Given the description of an element on the screen output the (x, y) to click on. 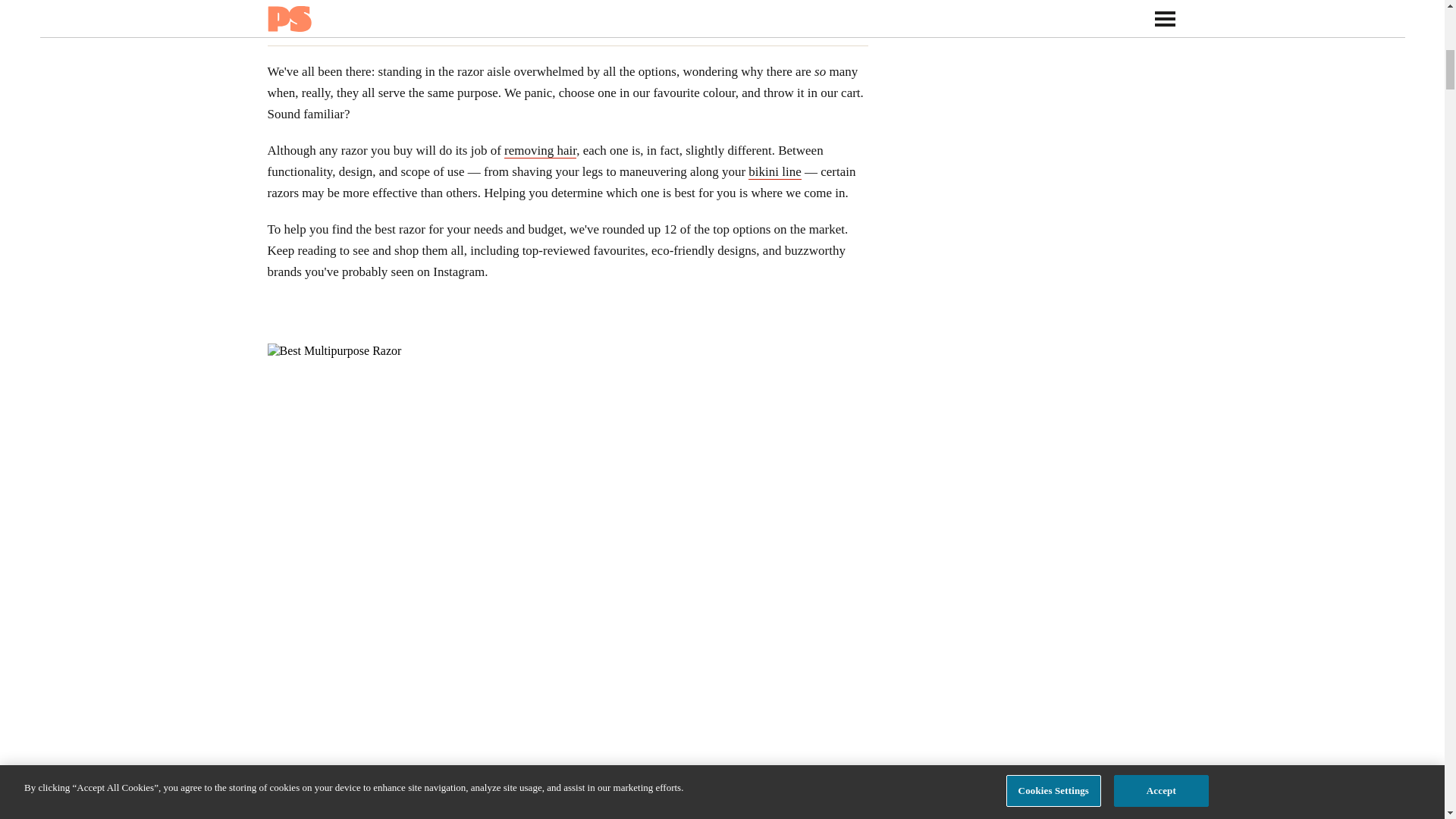
Product Review Guidelines here (484, 24)
bikini line (774, 171)
removing hair (539, 150)
